Given the description of an element on the screen output the (x, y) to click on. 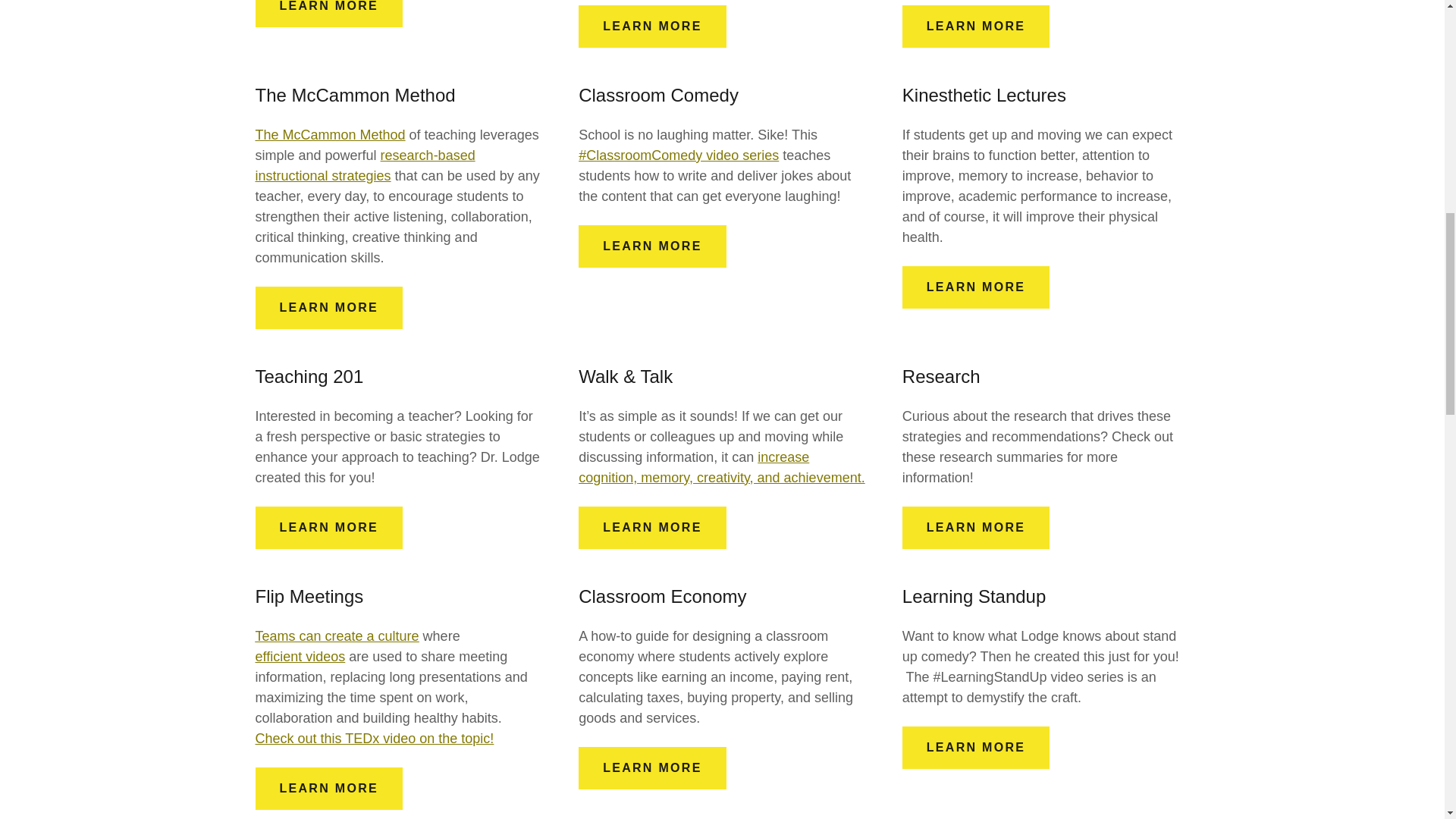
LEARN MORE (651, 246)
The McCammon Method (329, 134)
LEARN MORE (327, 13)
research-based instructional strategies (364, 165)
LEARN MORE (651, 527)
increase cognition, memory, creativity, and achievement. (721, 467)
LEARN MORE (975, 287)
LEARN MORE (327, 527)
LEARN MORE (327, 307)
LEARN MORE (975, 25)
